Given the description of an element on the screen output the (x, y) to click on. 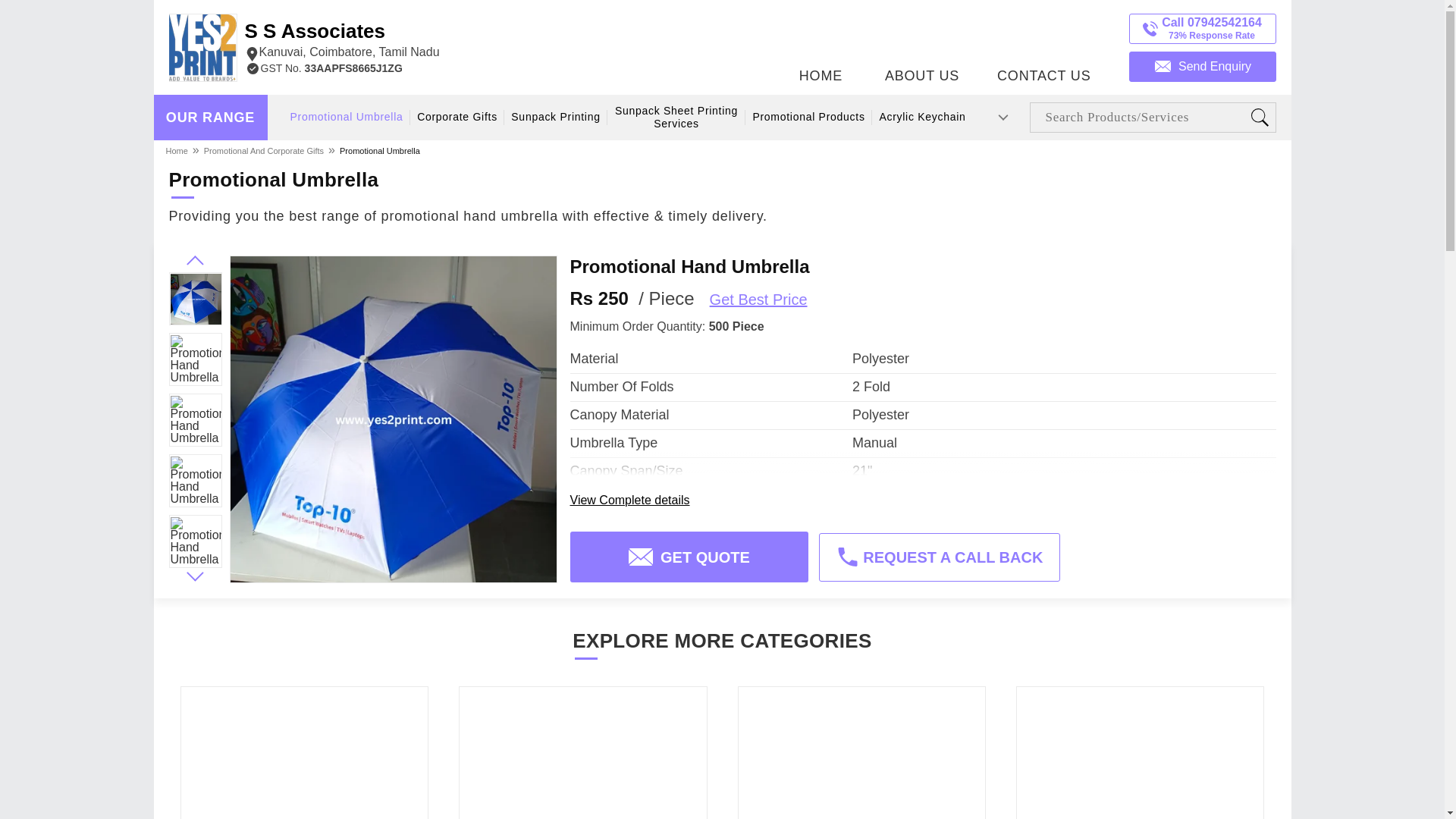
Corporate Gifts (456, 117)
OUR RANGE (209, 117)
Promotional Umbrella (379, 150)
Promotional Products (808, 117)
Acrylic Keychain (922, 117)
Home (176, 150)
Promotional And Corporate Gifts (263, 150)
ABOUT US (341, 41)
Sunpack Printing (921, 43)
